Given the description of an element on the screen output the (x, y) to click on. 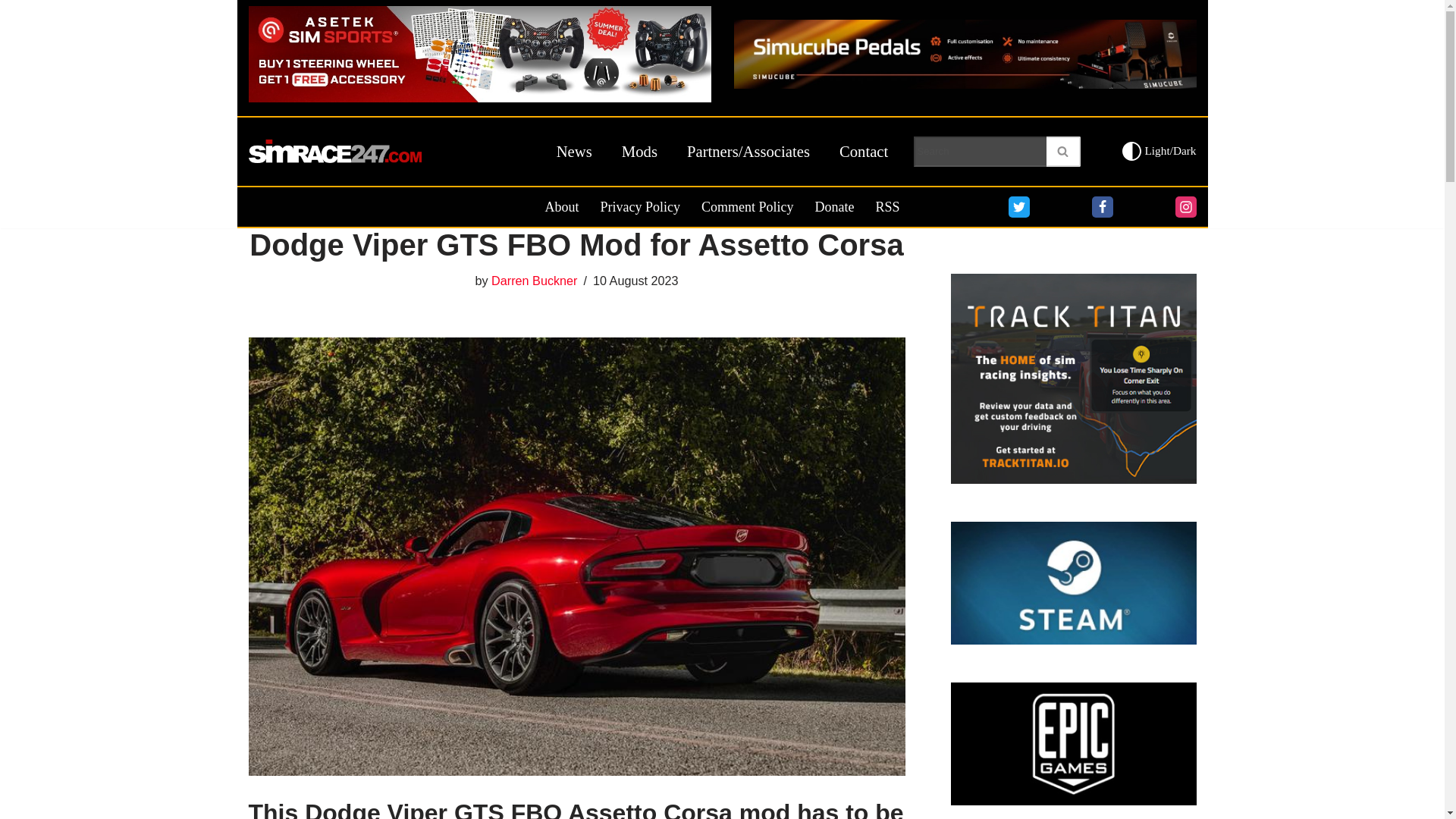
Posts by Darren Buckner (534, 280)
Contact (864, 151)
Privacy Policy (639, 206)
Instagram (1185, 206)
Donate (833, 206)
Comment Policy (747, 206)
Mods (639, 151)
News (574, 151)
Twitter (1019, 206)
